Given the description of an element on the screen output the (x, y) to click on. 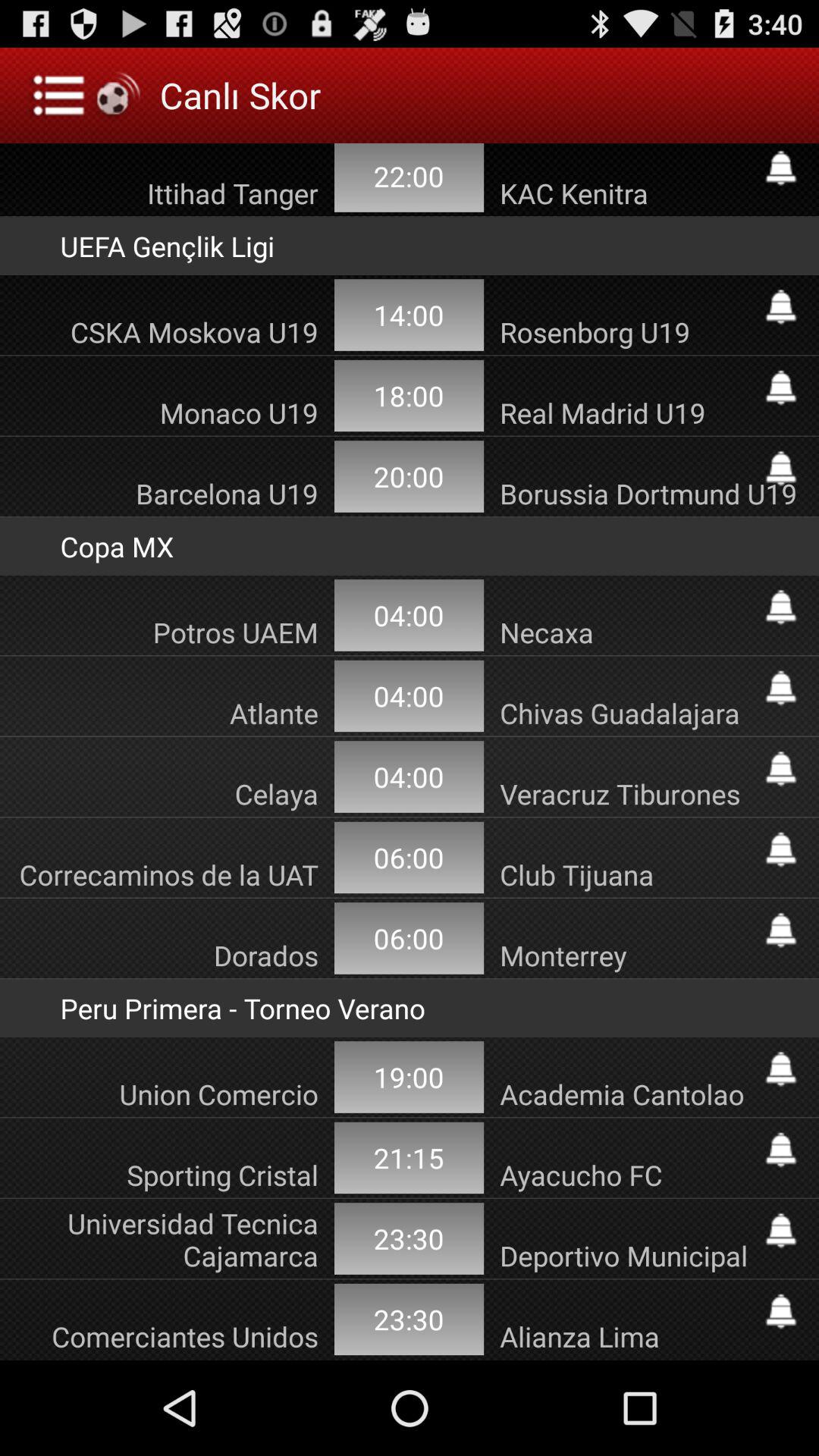
turn on notification (780, 688)
